Given the description of an element on the screen output the (x, y) to click on. 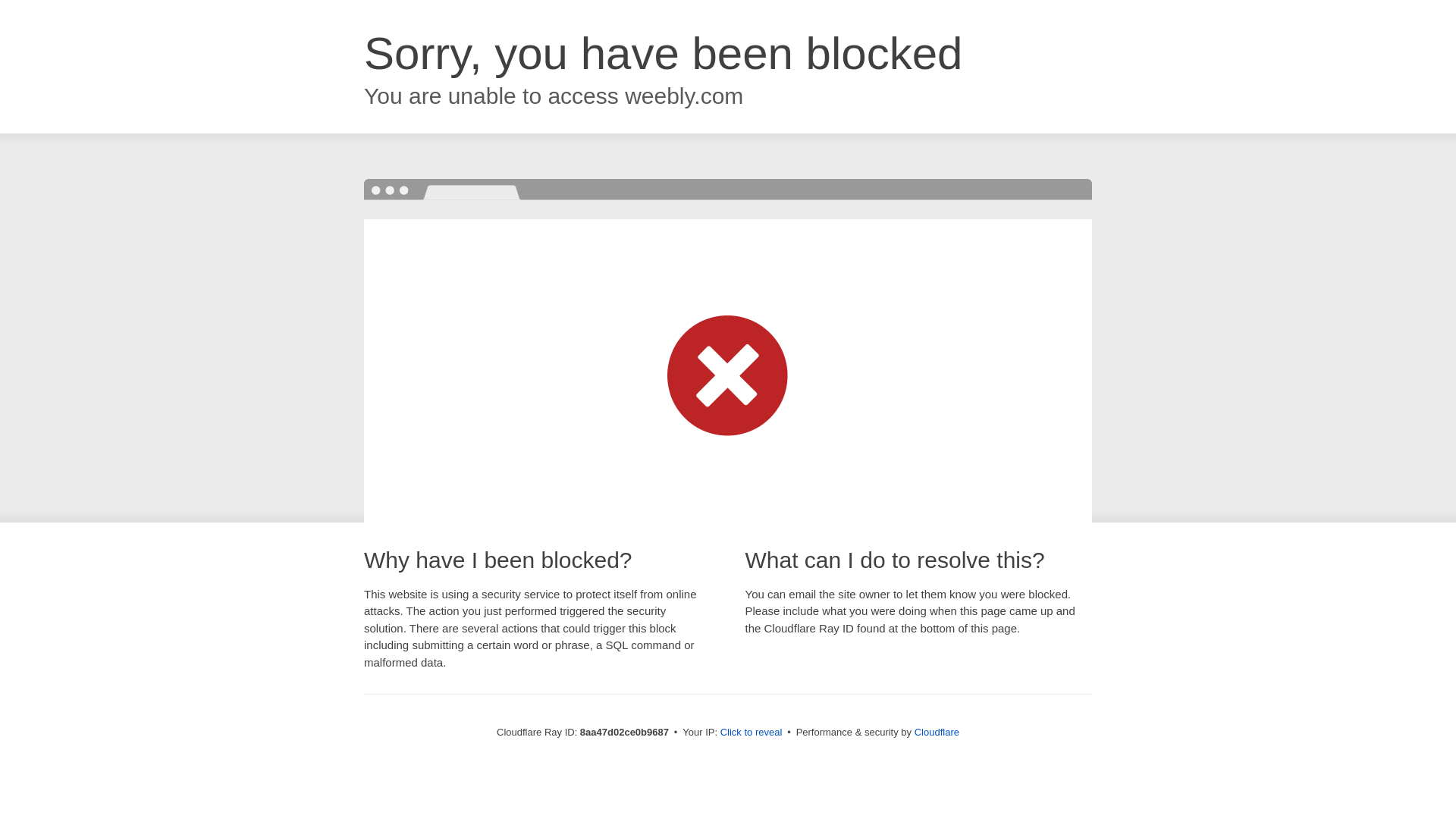
Cloudflare (936, 731)
Click to reveal (751, 732)
